Given the description of an element on the screen output the (x, y) to click on. 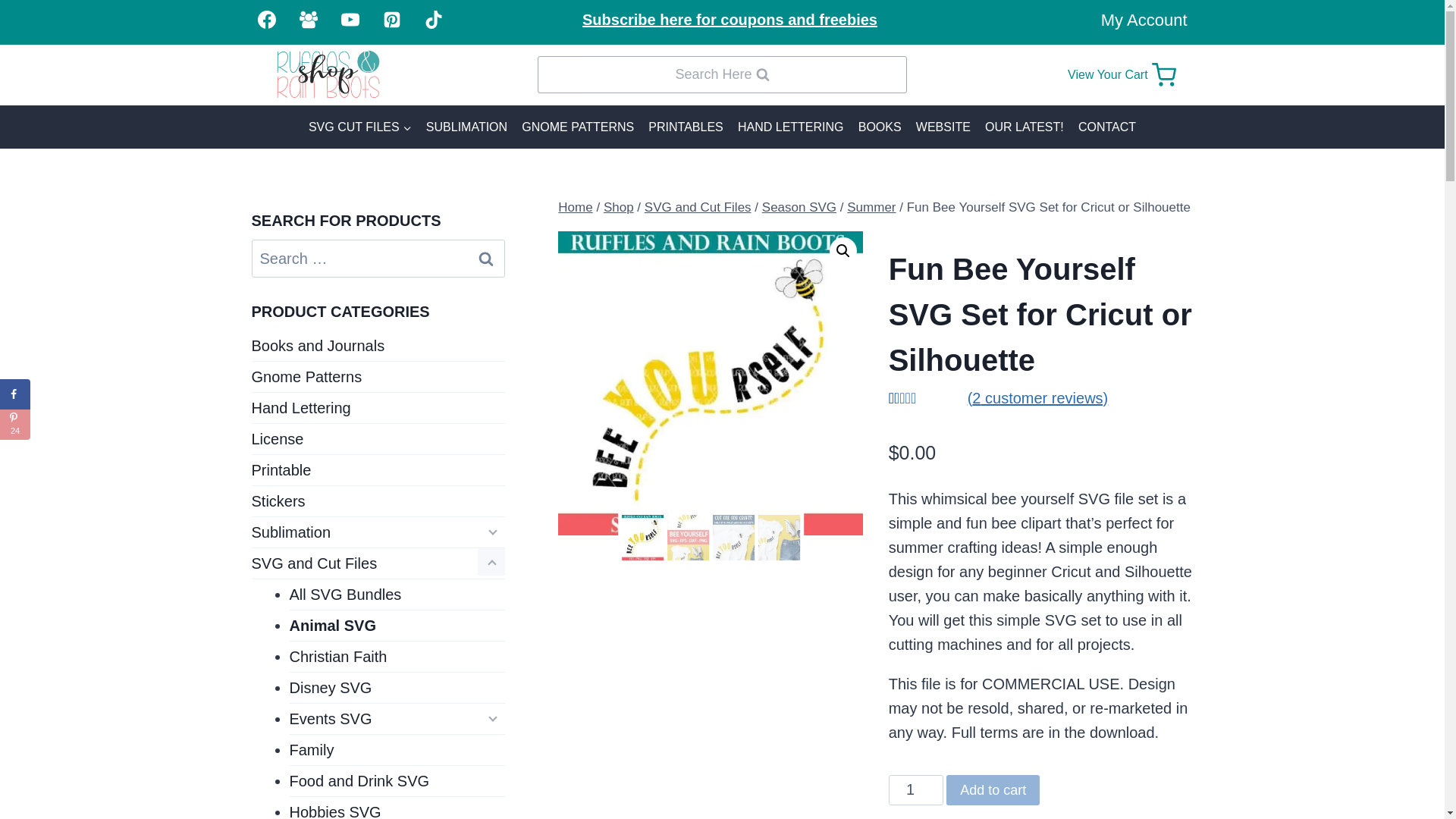
My Account (1144, 20)
Bee Yourself Cut File set for cricut or silhouette (1129, 74)
1 (710, 383)
SVG CUT FILES (915, 789)
Search (360, 127)
Search (486, 258)
Save to Pinterest (486, 258)
Search Here (15, 424)
Share on Facebook (721, 74)
